Given the description of an element on the screen output the (x, y) to click on. 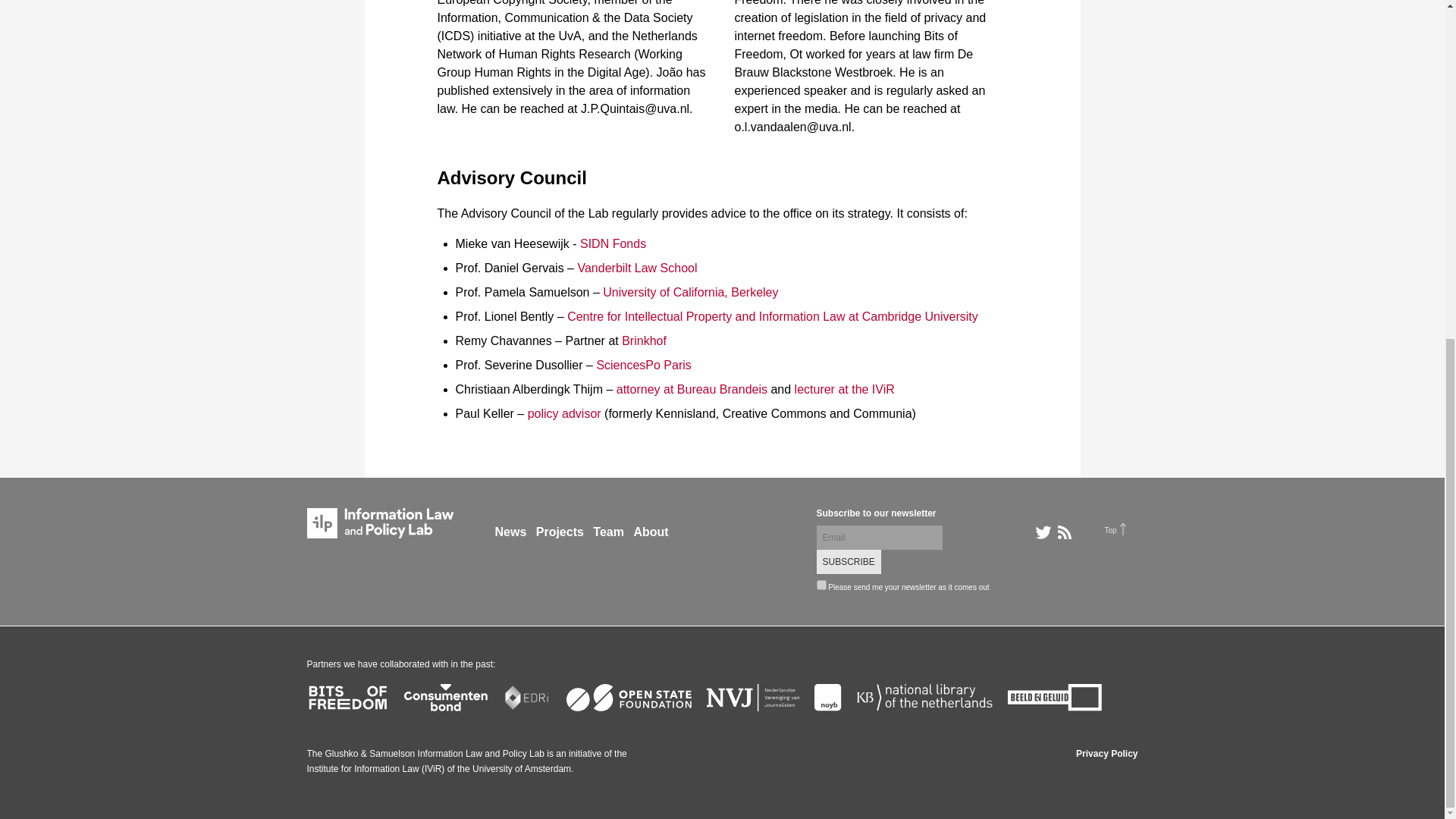
University of California, Berkeley (689, 291)
ILP Lab (378, 522)
lecturer at the IViR (844, 389)
Projects (559, 531)
Subscribe (847, 561)
Subscribe (847, 561)
Privacy Policy (1106, 753)
